Given the description of an element on the screen output the (x, y) to click on. 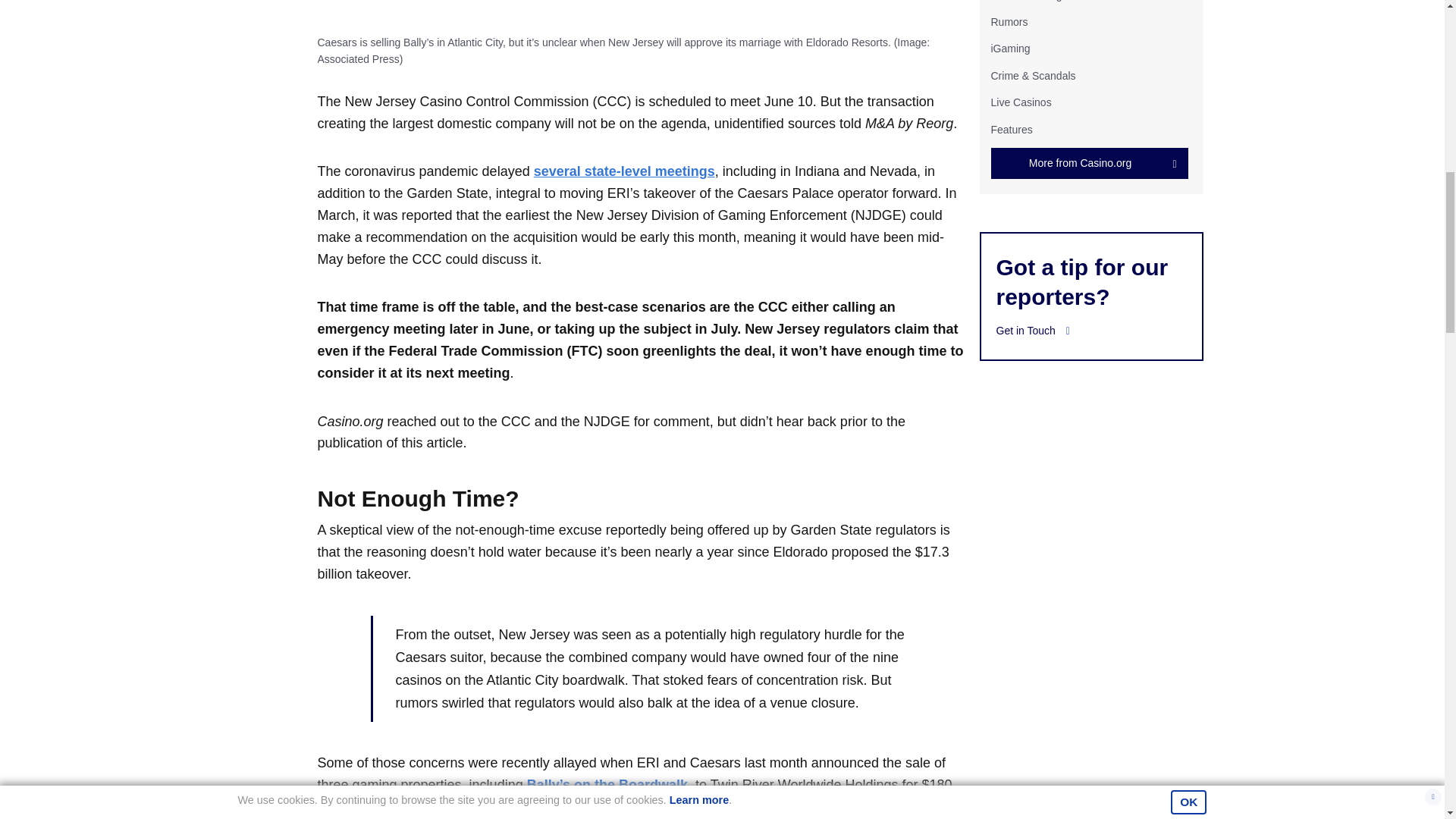
Live Casinos (1020, 102)
Features (1011, 128)
Mobile Gaming (1025, 0)
iGaming (1009, 48)
Rumors (1008, 21)
several state-level meetings (624, 171)
